Given the description of an element on the screen output the (x, y) to click on. 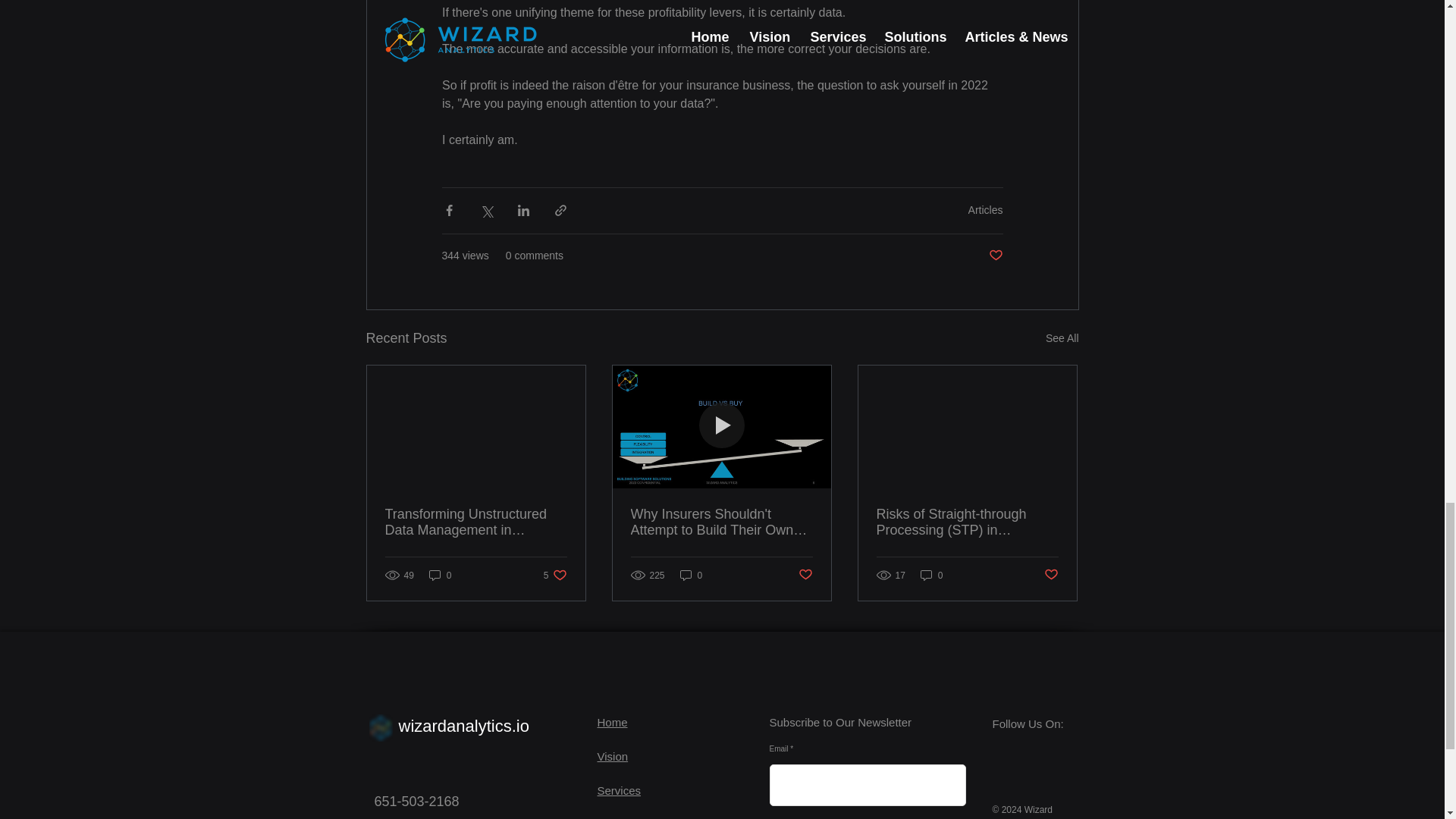
Articles (985, 209)
0 (931, 575)
Post not marked as liked (804, 575)
Products (619, 818)
Home (611, 721)
0 (440, 575)
Post not marked as liked (555, 575)
Post not marked as liked (1050, 575)
Vision (995, 255)
Why Insurers Shouldn't Attempt to Build Their Own Software (612, 756)
Services (721, 522)
wizardanalytics.io (619, 789)
See All (463, 725)
